Given the description of an element on the screen output the (x, y) to click on. 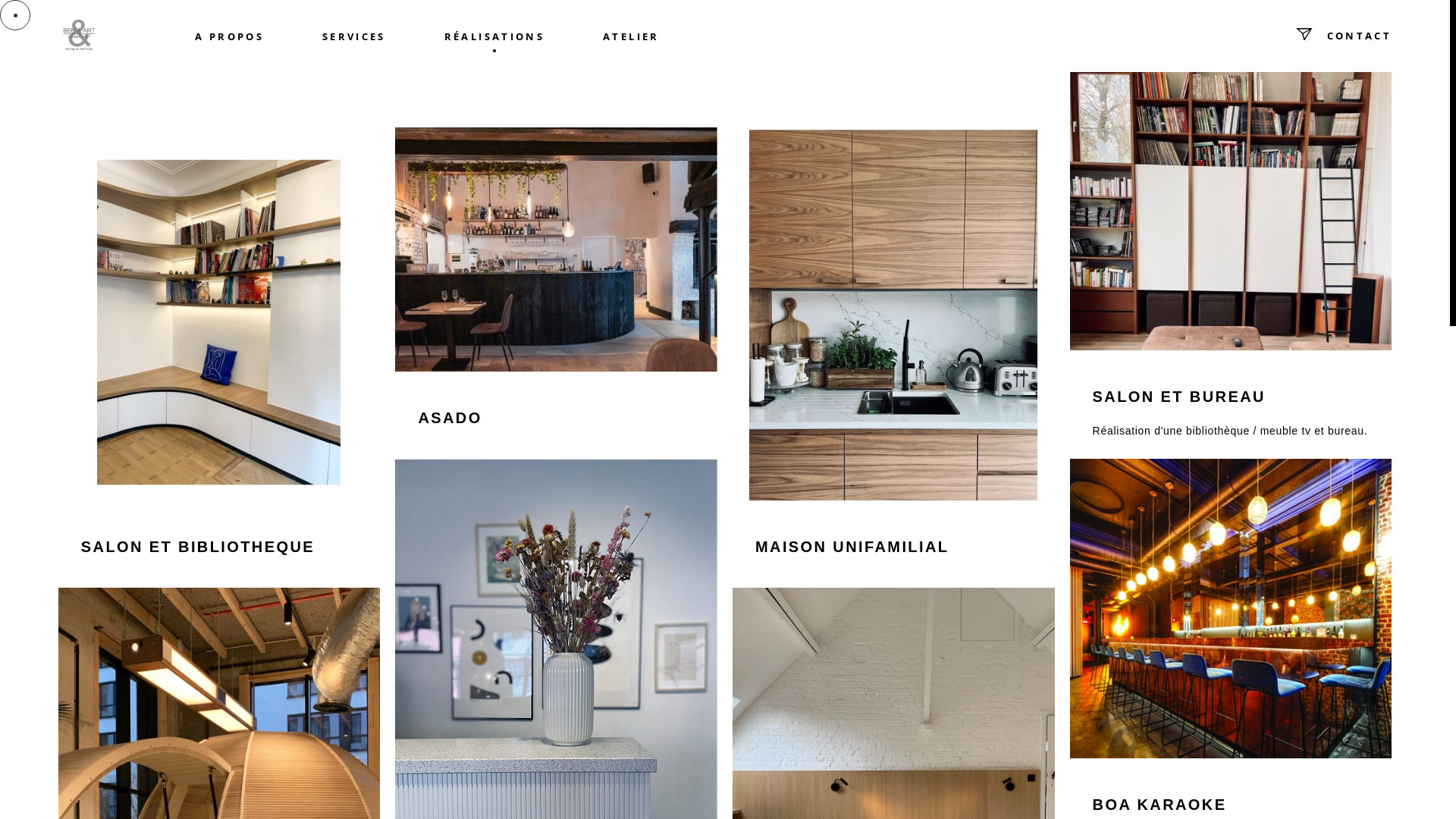
CONTACT
CONTACT Element type: text (1329, 35)
A PROPOS Element type: text (229, 36)
ATELIER Element type: text (631, 36)
BEN & ART CONSTRUCT Element type: text (82, 35)
SERVICES Element type: text (353, 36)
